Given the description of an element on the screen output the (x, y) to click on. 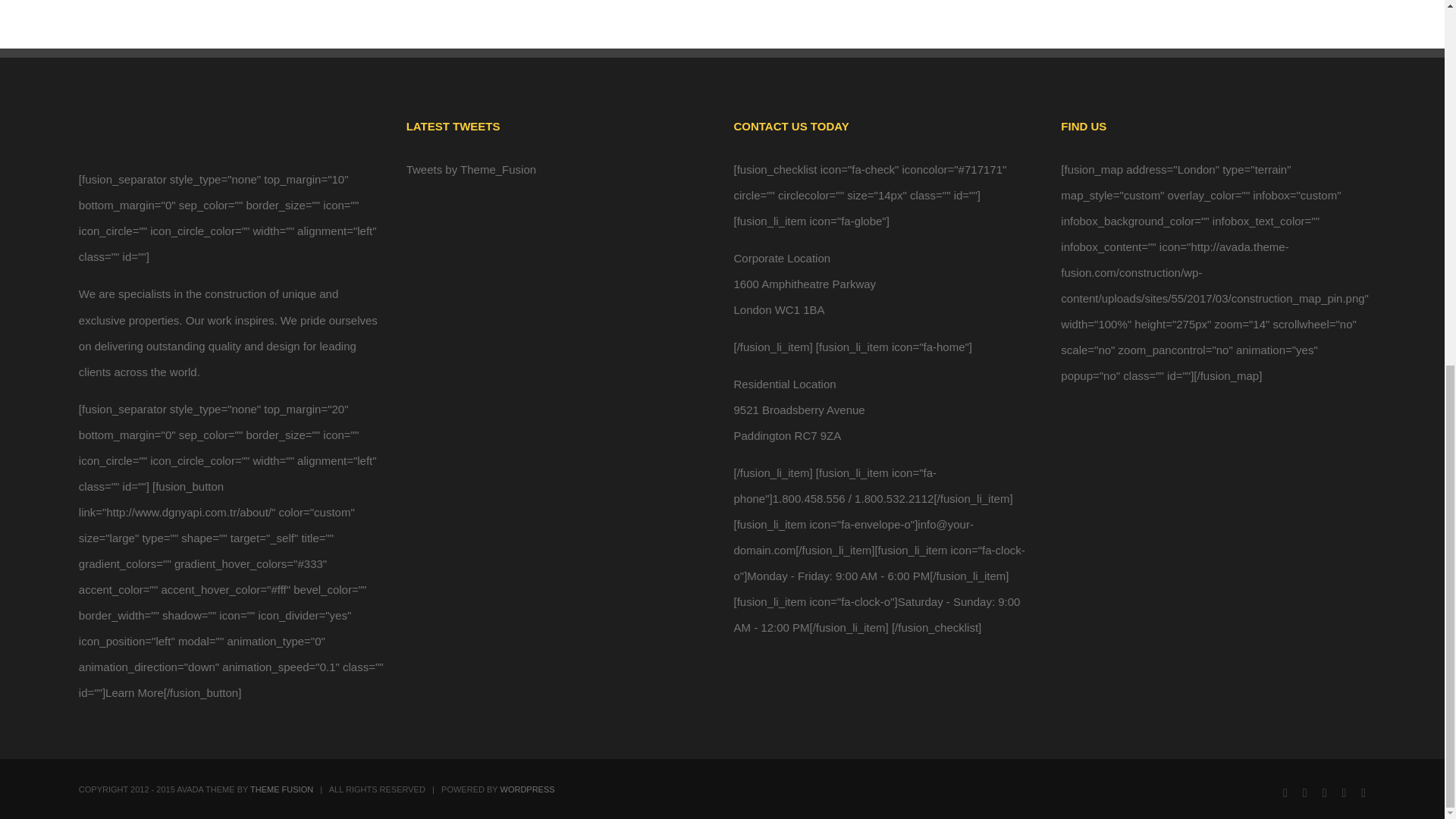
THEME FUSION (281, 788)
WORDPRESS (527, 788)
